Given the description of an element on the screen output the (x, y) to click on. 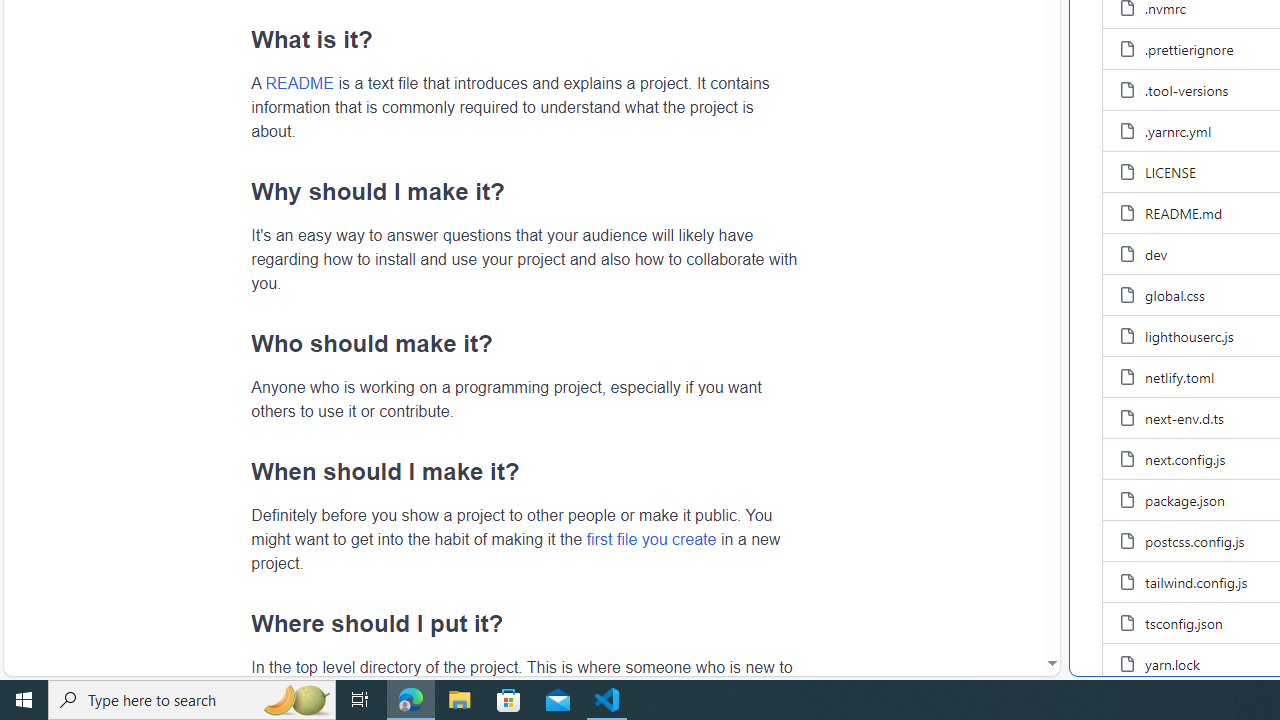
global.css, (File) (1174, 295)
tailwind.config.js, (File) (1196, 581)
.prettierignore, (File) (1189, 48)
README.md, (File) (1183, 213)
dev, (File) (1156, 254)
yarn.lock, (File) (1172, 663)
netlify.toml, (File) (1179, 377)
next.config.js, (File) (1185, 458)
package.json, (File) (1184, 499)
Anchor (240, 623)
next-env.d.ts, (File) (1184, 417)
LICENSE, (File) (1170, 172)
postcss.config.js, (File) (1195, 540)
tsconfig.json, (File) (1183, 622)
.yarnrc.yml, (File) (1178, 130)
